Given the description of an element on the screen output the (x, y) to click on. 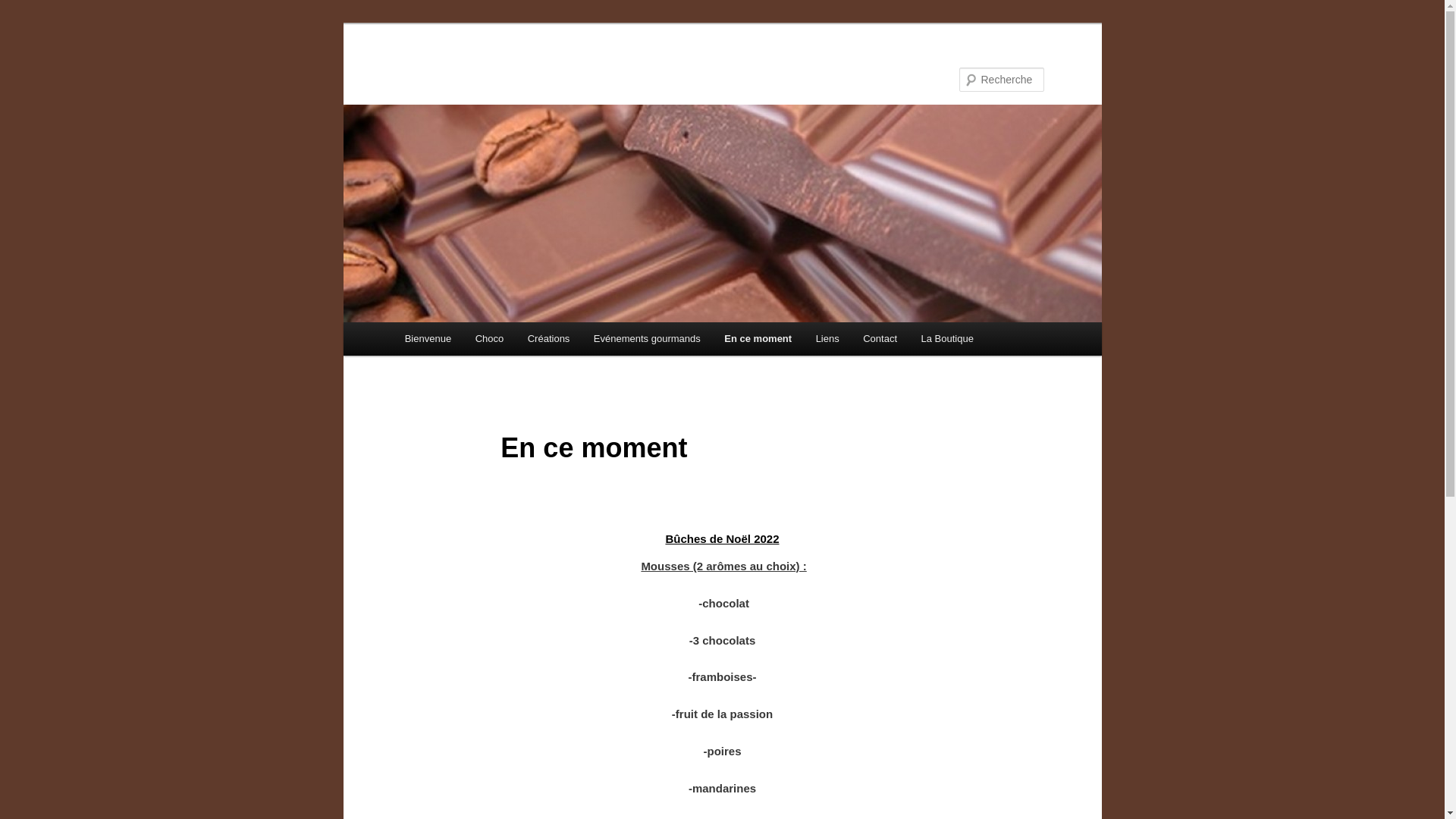
Bienvenue Element type: text (427, 338)
En ce moment Element type: text (757, 338)
La Boutique Element type: text (947, 338)
Aller au contenu secondaire Element type: text (484, 341)
Contact Element type: text (879, 338)
Recherche Element type: text (33, 8)
Liens Element type: text (827, 338)
Aller au contenu principal Element type: text (477, 341)
Choco Element type: text (489, 338)
